Given the description of an element on the screen output the (x, y) to click on. 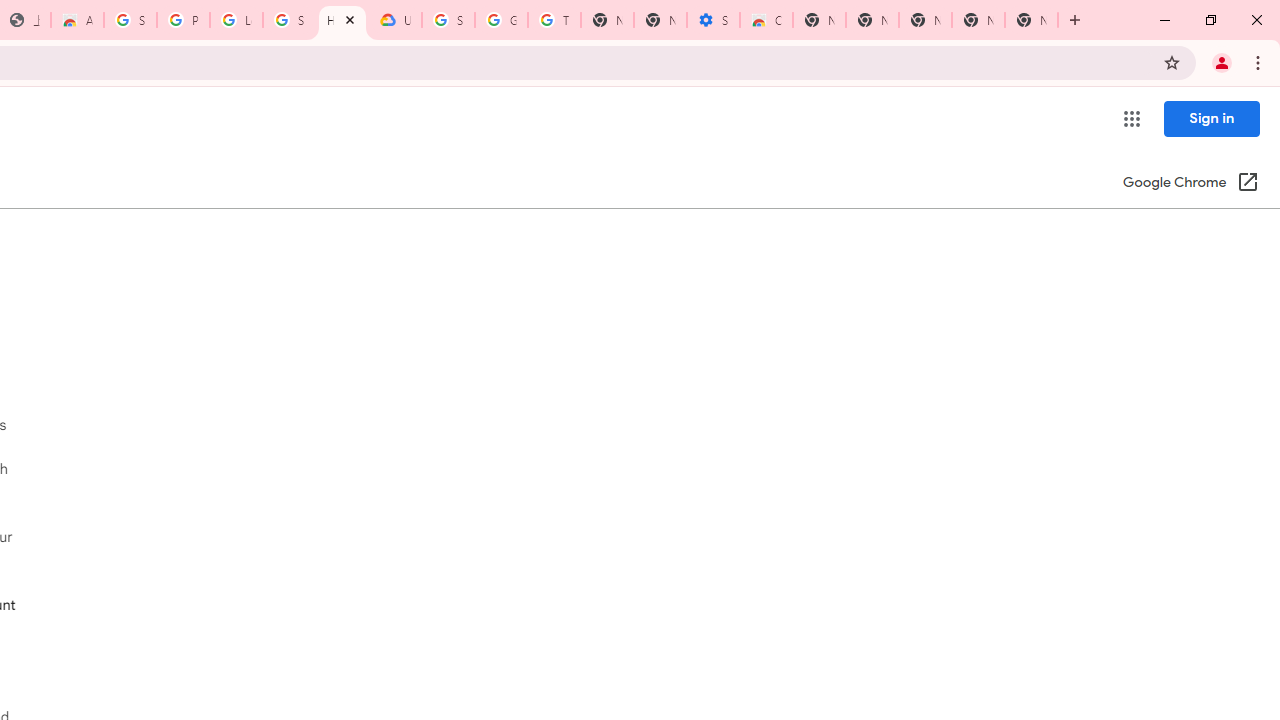
New Tab (819, 20)
Sign in - Google Accounts (130, 20)
Awesome Screen Recorder & Screenshot - Chrome Web Store (77, 20)
New Tab (1031, 20)
Google Chrome (Open in a new window) (1190, 183)
Sign in - Google Accounts (448, 20)
Chrome Web Store - Accessibility extensions (766, 20)
Settings - Accessibility (713, 20)
Google Account Help (501, 20)
